Given the description of an element on the screen output the (x, y) to click on. 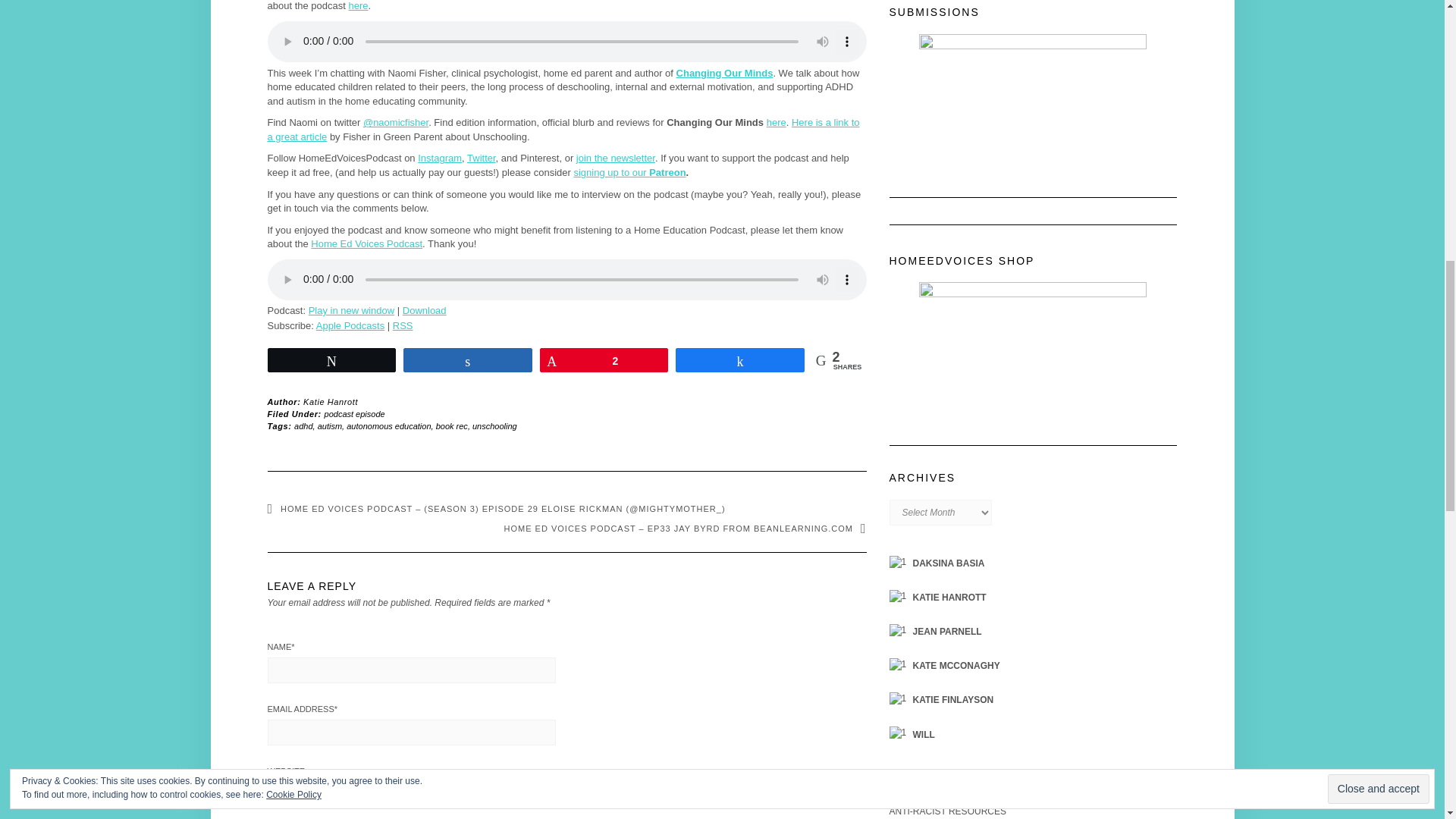
adhd (303, 425)
join the newsletter (615, 157)
podcast episode (354, 413)
here (776, 122)
unschooling (493, 425)
Changing Our Minds (725, 72)
autonomous education (388, 425)
Play in new window (351, 310)
2 (604, 359)
Patreon (667, 172)
